Given the description of an element on the screen output the (x, y) to click on. 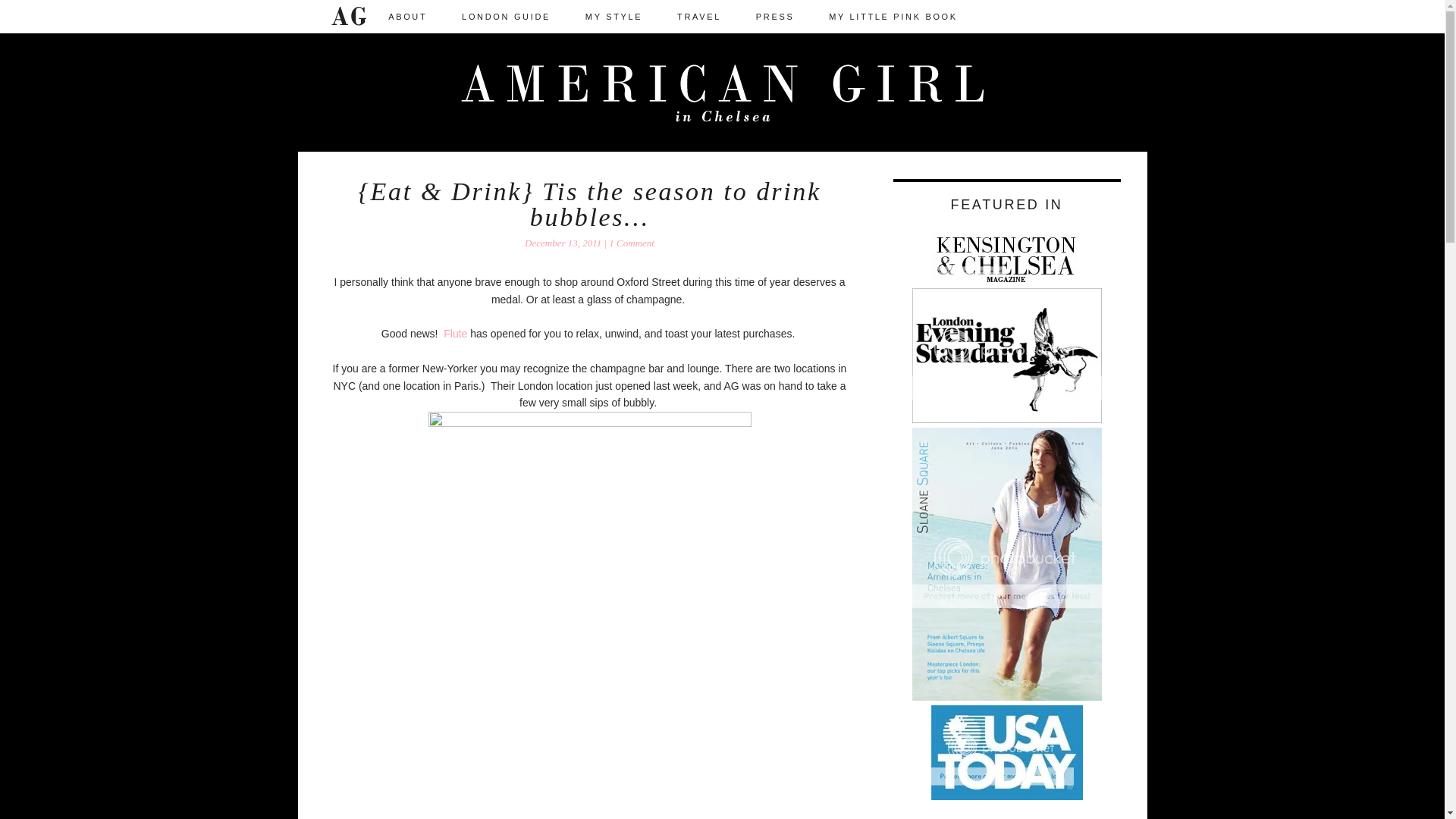
MY LITTLE PINK BOOK (892, 16)
TRAVEL (699, 16)
LONDON GUIDE (506, 16)
american girl in chelsea (722, 98)
MY STYLE (614, 16)
PRESS (775, 16)
ABOUT (407, 16)
Flute (455, 333)
1 Comment (630, 242)
